Given the description of an element on the screen output the (x, y) to click on. 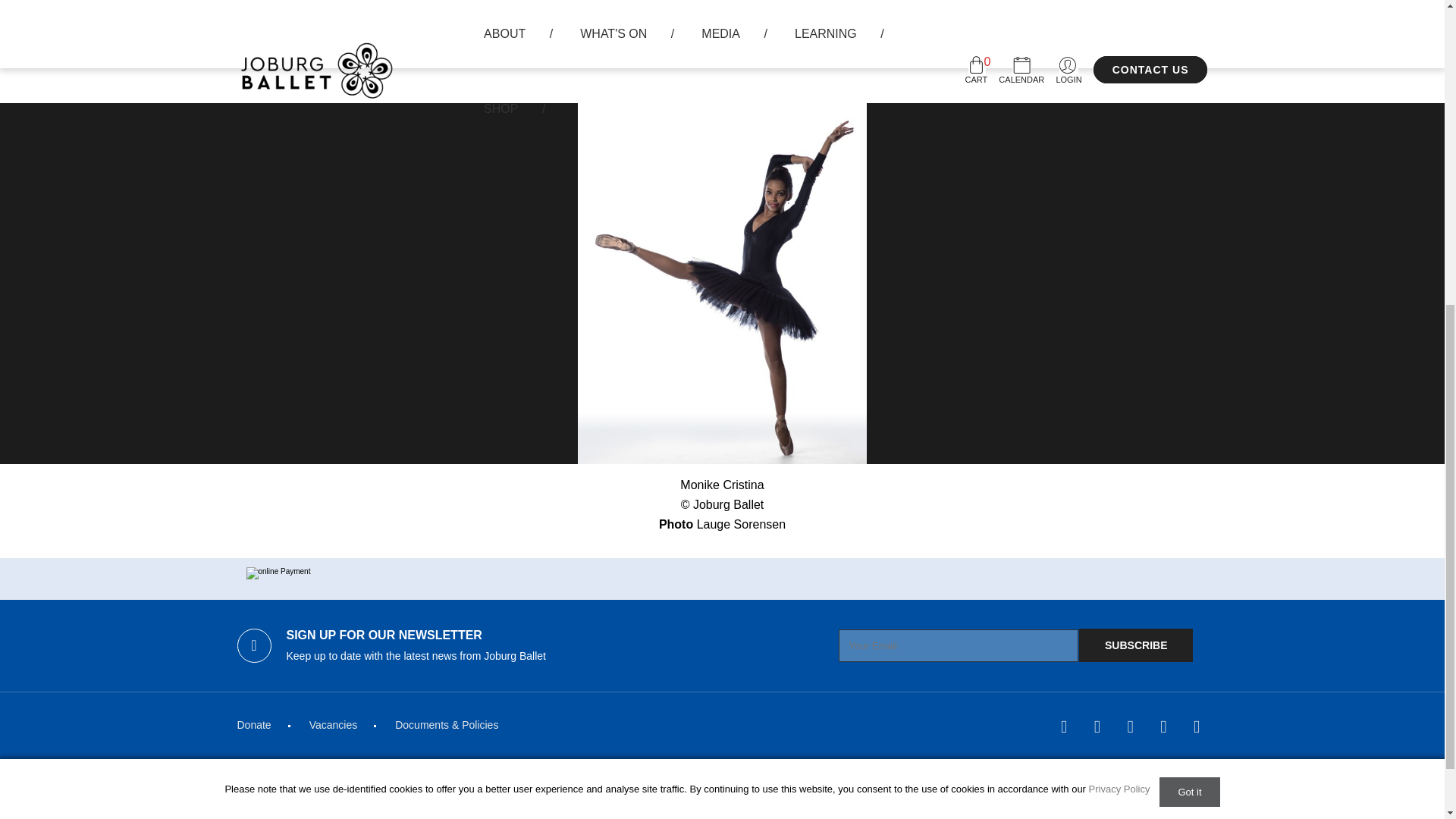
SUBSCRIBE (1135, 644)
